Given the description of an element on the screen output the (x, y) to click on. 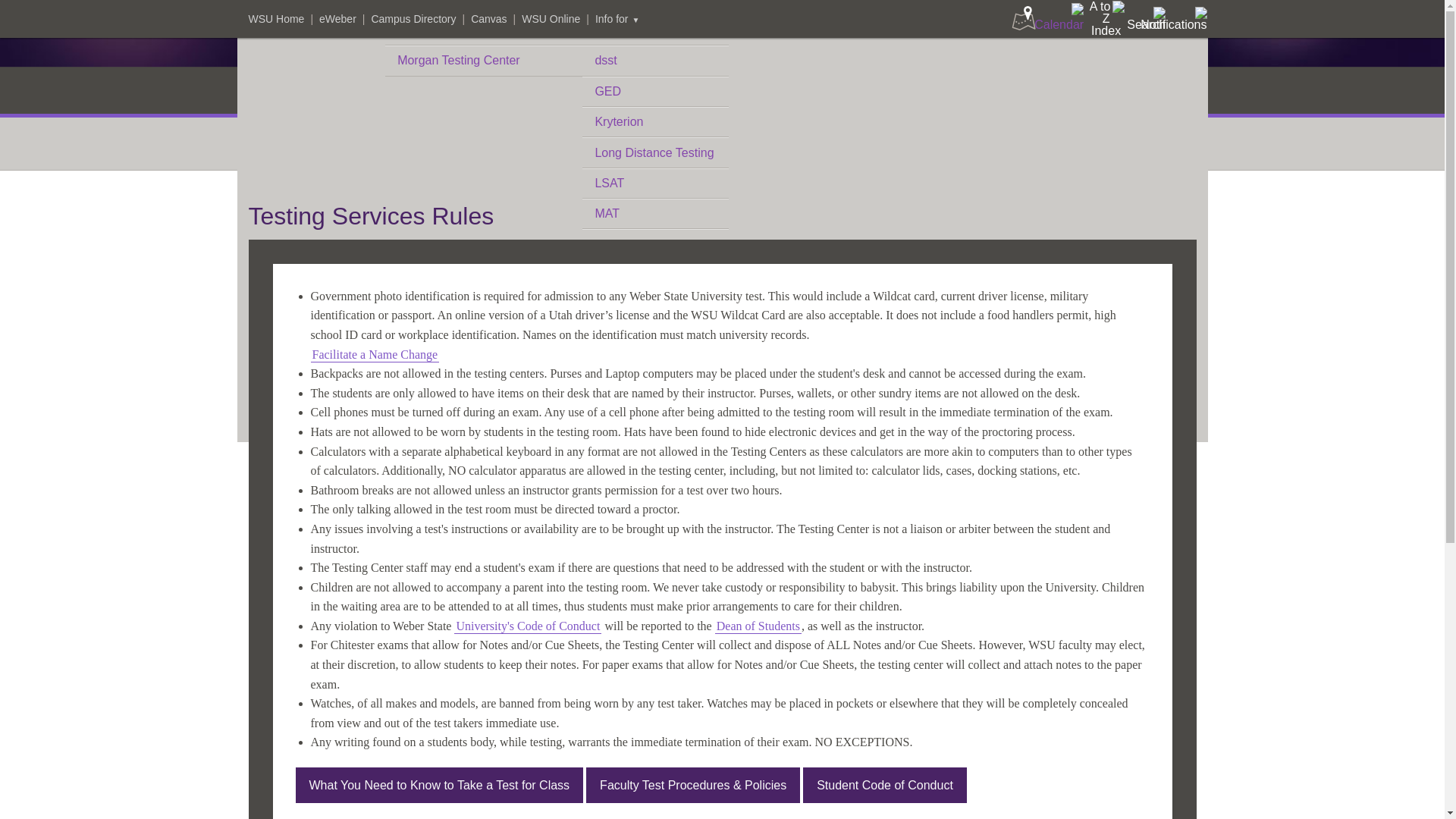
WSU Home (276, 19)
Campus Directory (413, 19)
eWeber (337, 19)
WSU Online (550, 19)
Info for (617, 19)
Canvas (488, 19)
